Given the description of an element on the screen output the (x, y) to click on. 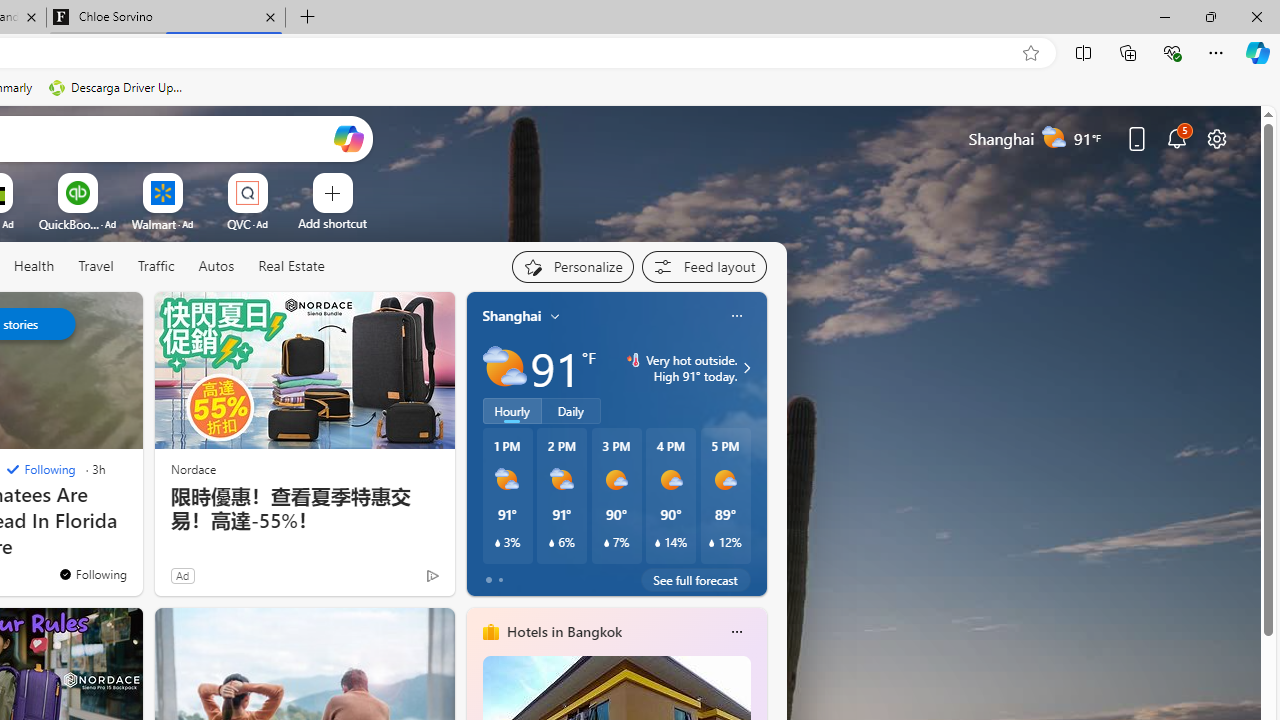
Travel (95, 267)
Health (33, 267)
Following (40, 469)
Partly sunny (504, 368)
Hotels in Bangkok (563, 631)
Traffic (155, 267)
Page settings (1216, 138)
More options (736, 631)
Notifications (1176, 138)
Daily (571, 411)
